Given the description of an element on the screen output the (x, y) to click on. 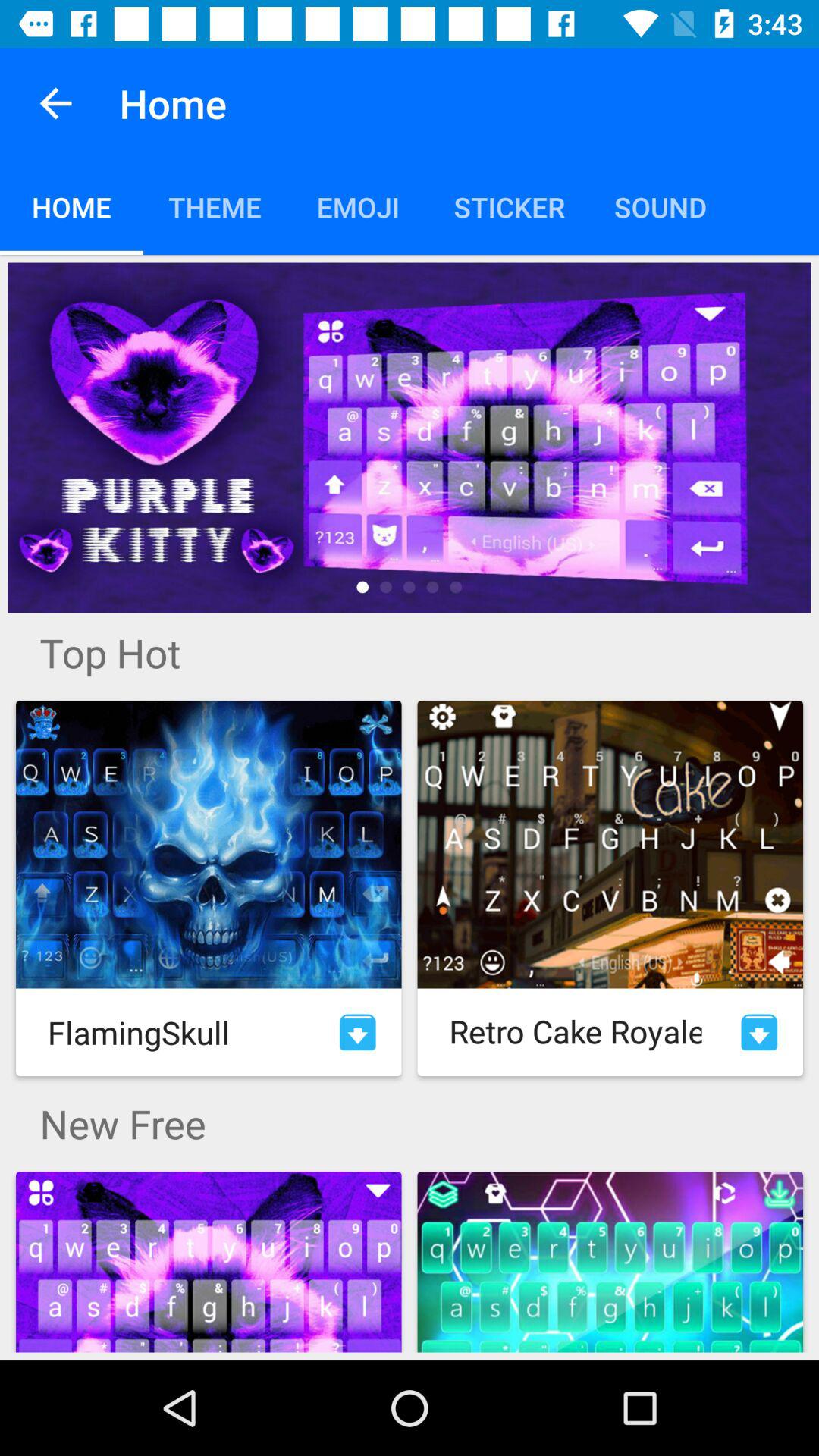
press icon to the left of home app (55, 103)
